Given the description of an element on the screen output the (x, y) to click on. 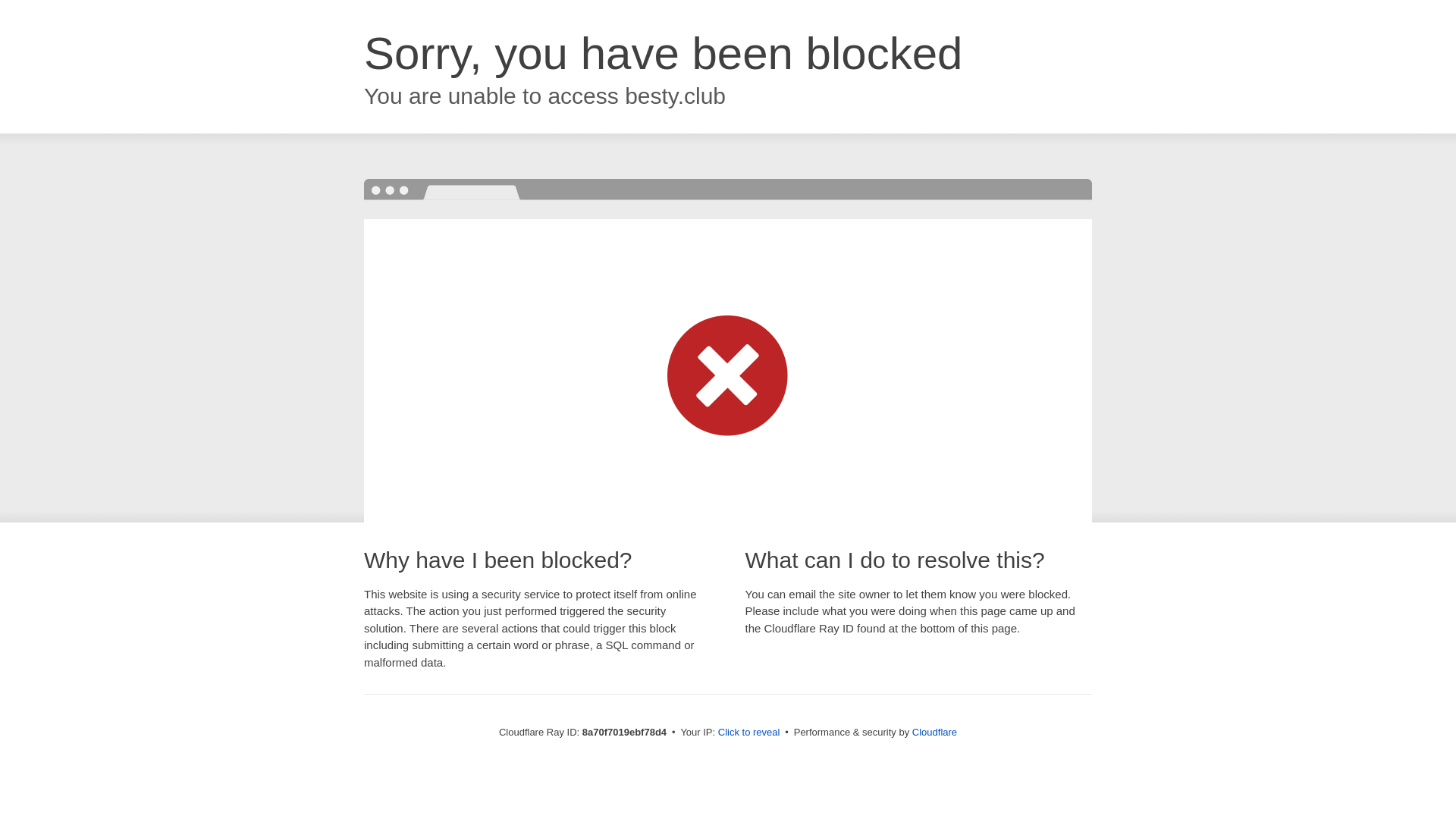
Click to reveal (748, 732)
Cloudflare (934, 731)
